Given the description of an element on the screen output the (x, y) to click on. 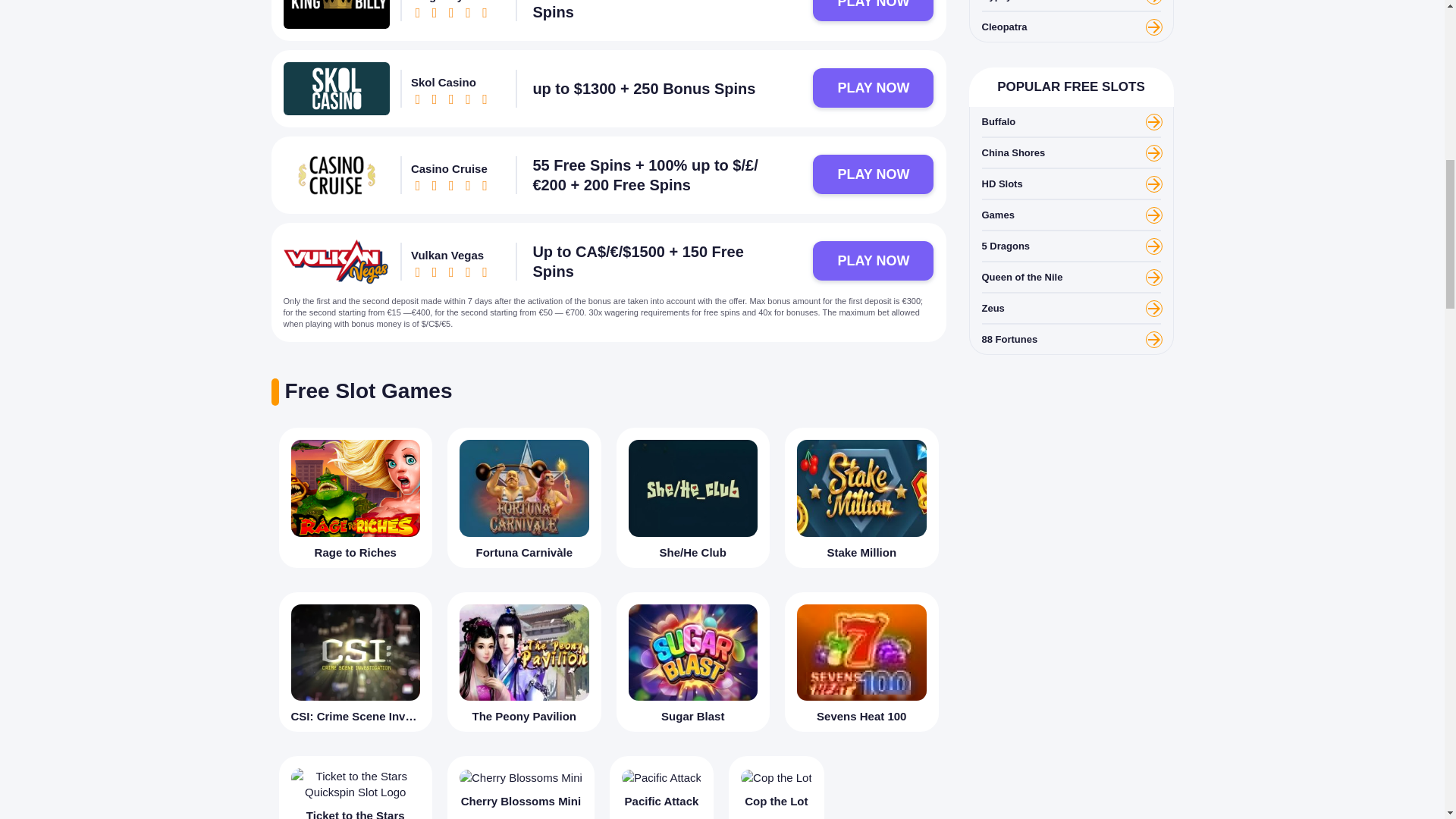
Sugar Blast (692, 662)
Rage-to-Riches (355, 488)
Rage to Riches (355, 497)
Stake-Million (861, 488)
CSI: Crime Scene Investigation (355, 662)
The Peony Pavilion (523, 662)
Sevens Heat 100 (861, 662)
The-Peony-Pavilion (524, 652)
She-He-Club (692, 488)
Ticket to the Stars (355, 787)
